Given the description of an element on the screen output the (x, y) to click on. 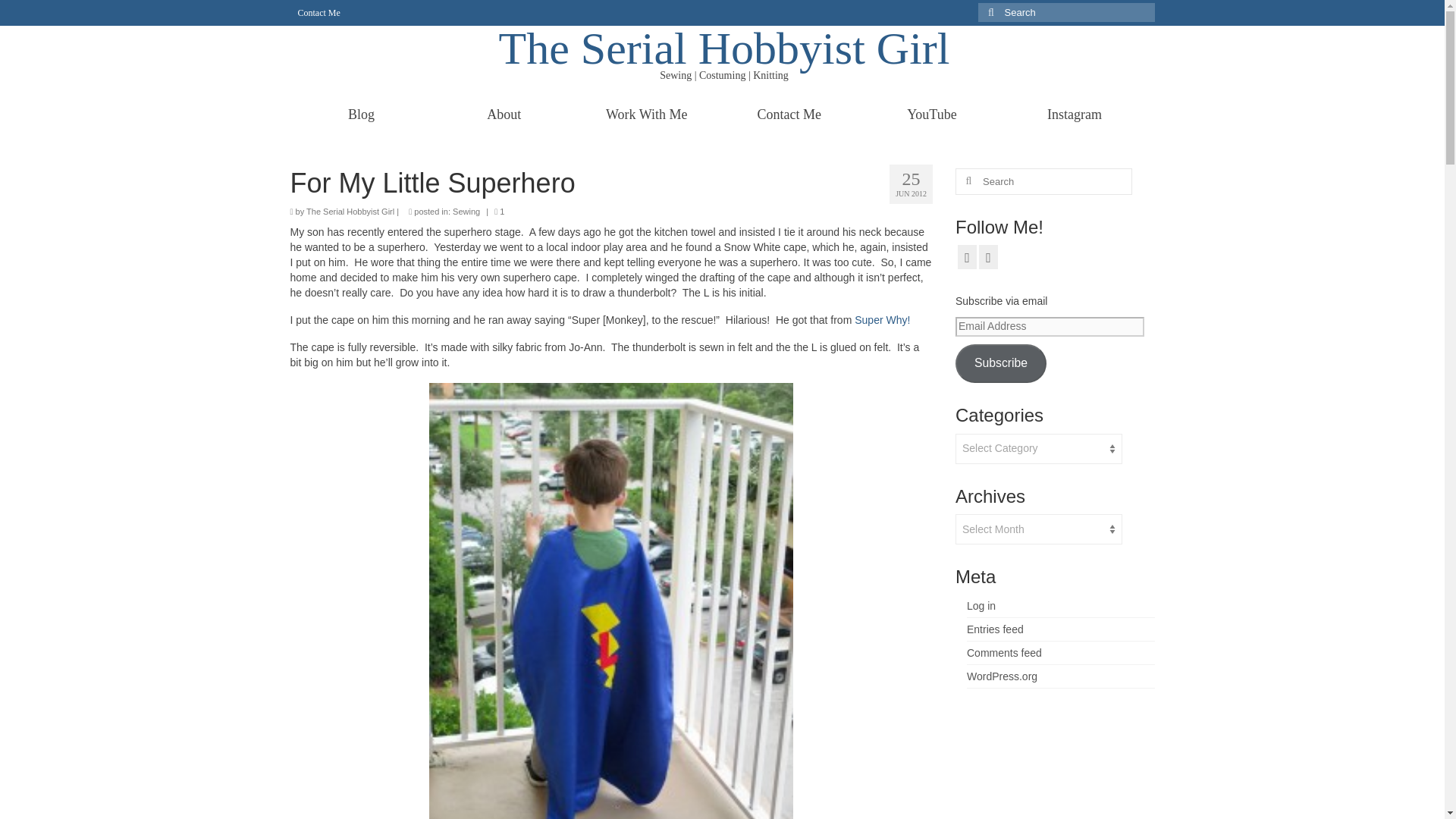
Blog (360, 114)
Work With Me (646, 114)
The Serial Hobbyist Girl (349, 211)
Contact Me (318, 12)
YouTube (931, 114)
About (503, 114)
Sewing (466, 211)
Contact Me (788, 114)
Instagram (1074, 114)
The Serial Hobbyist Girl (724, 48)
